Given the description of an element on the screen output the (x, y) to click on. 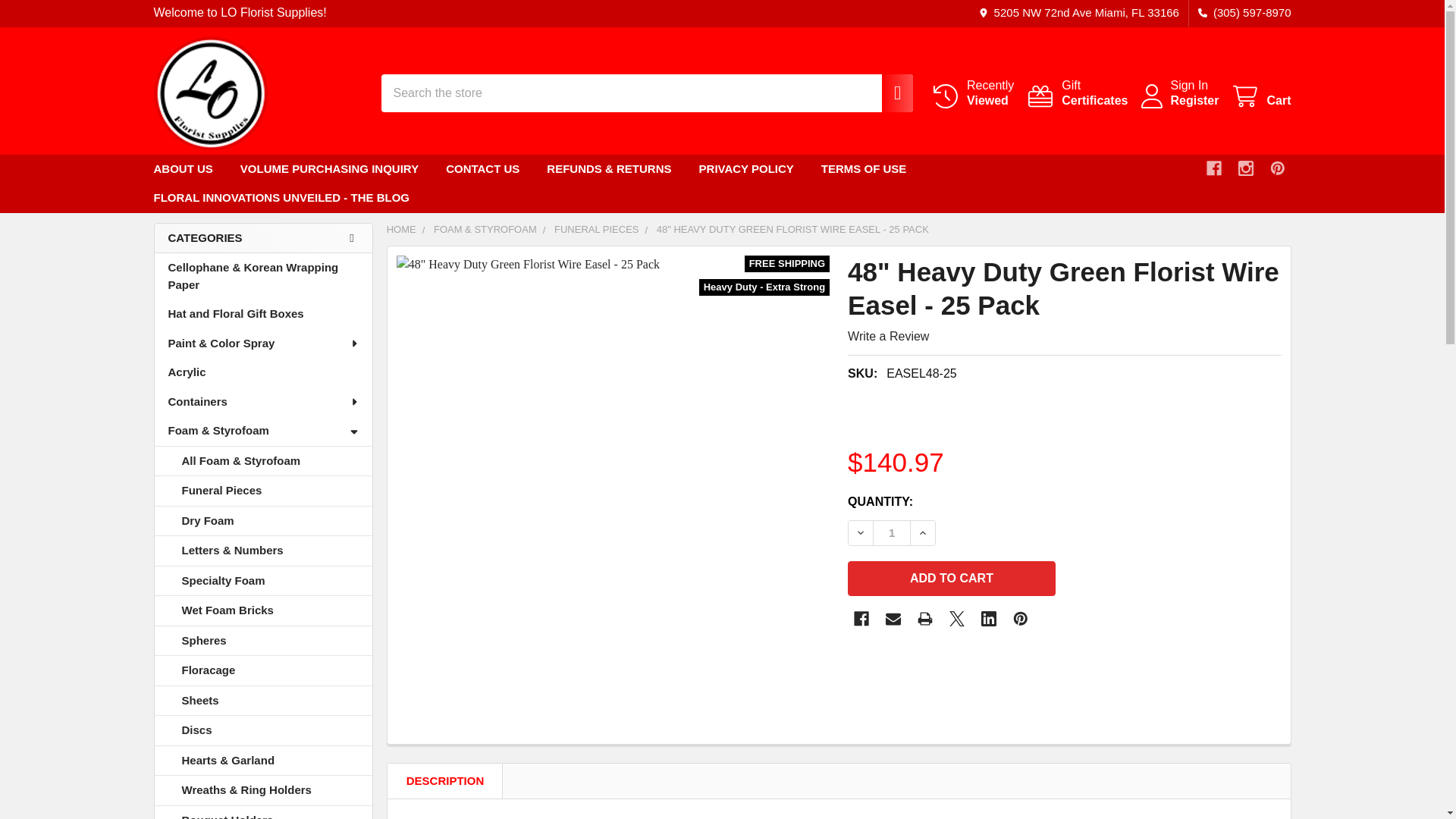
Facebook (861, 618)
Pinterest (1276, 167)
Email (1076, 92)
1 (893, 618)
Search (891, 533)
LO Florist Supplies (889, 93)
Search (209, 92)
Add to Cart (889, 93)
Gift Certificates (951, 578)
X (972, 92)
Sign In (1076, 92)
Cart (957, 618)
48" Heavy Duty Green Florist Wire Easel - 25 Pack (1189, 85)
